Given the description of an element on the screen output the (x, y) to click on. 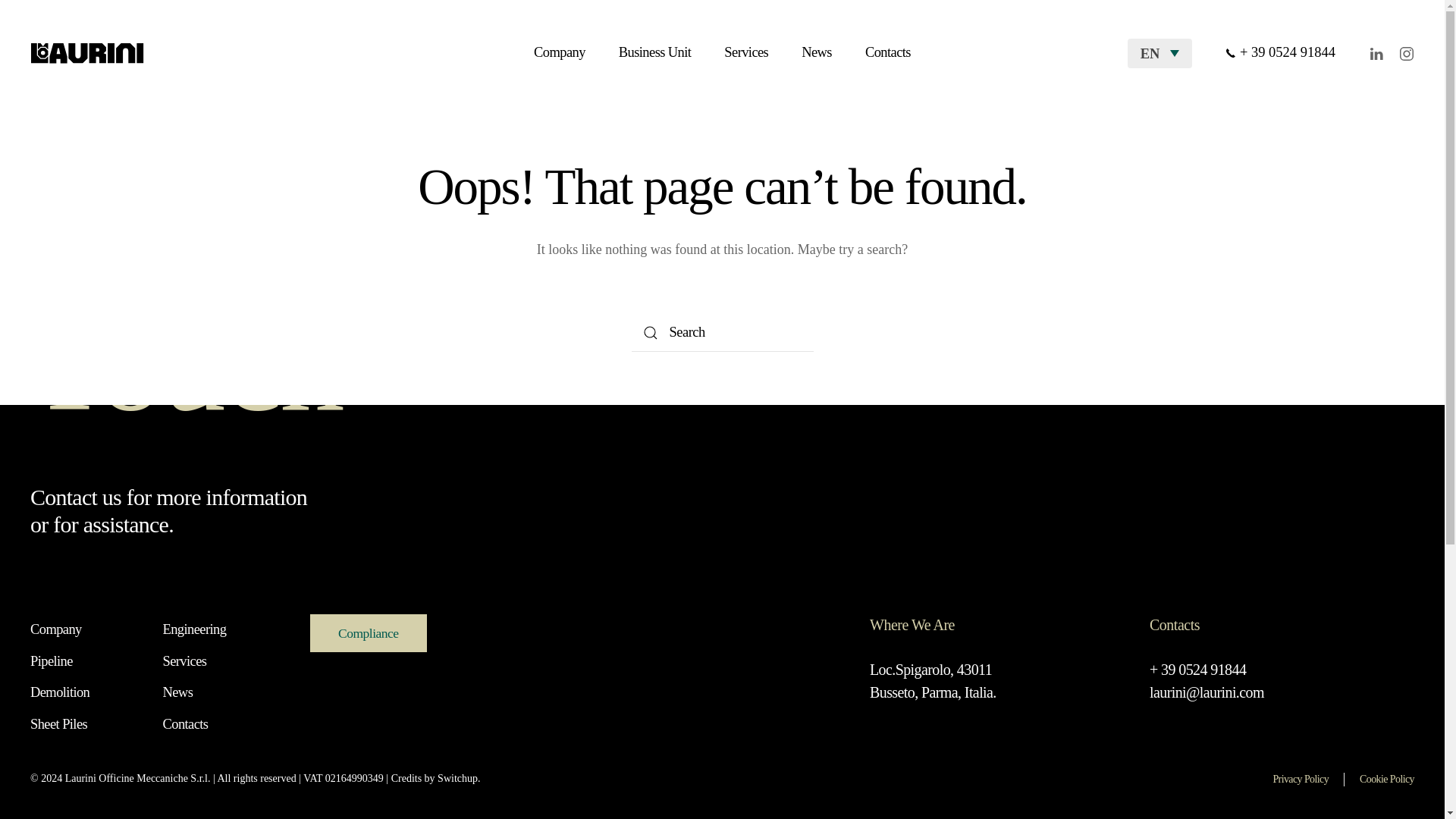
Compliance (1074, 779)
Where We Are (1001, 680)
Business Unit (442, 632)
